Given the description of an element on the screen output the (x, y) to click on. 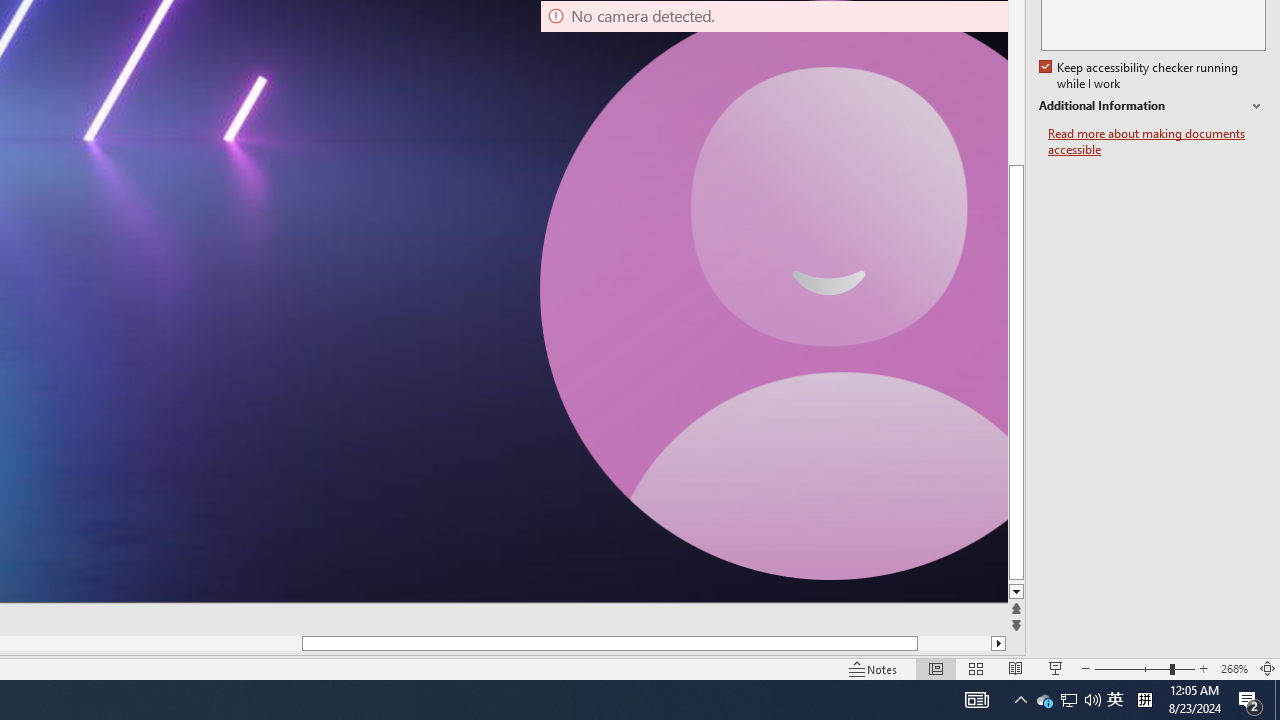
Keep accessibility checker running while I work (1140, 76)
Read more about making documents accessible (1156, 142)
Additional Information (1152, 106)
Zoom 268% (1234, 668)
